Given the description of an element on the screen output the (x, y) to click on. 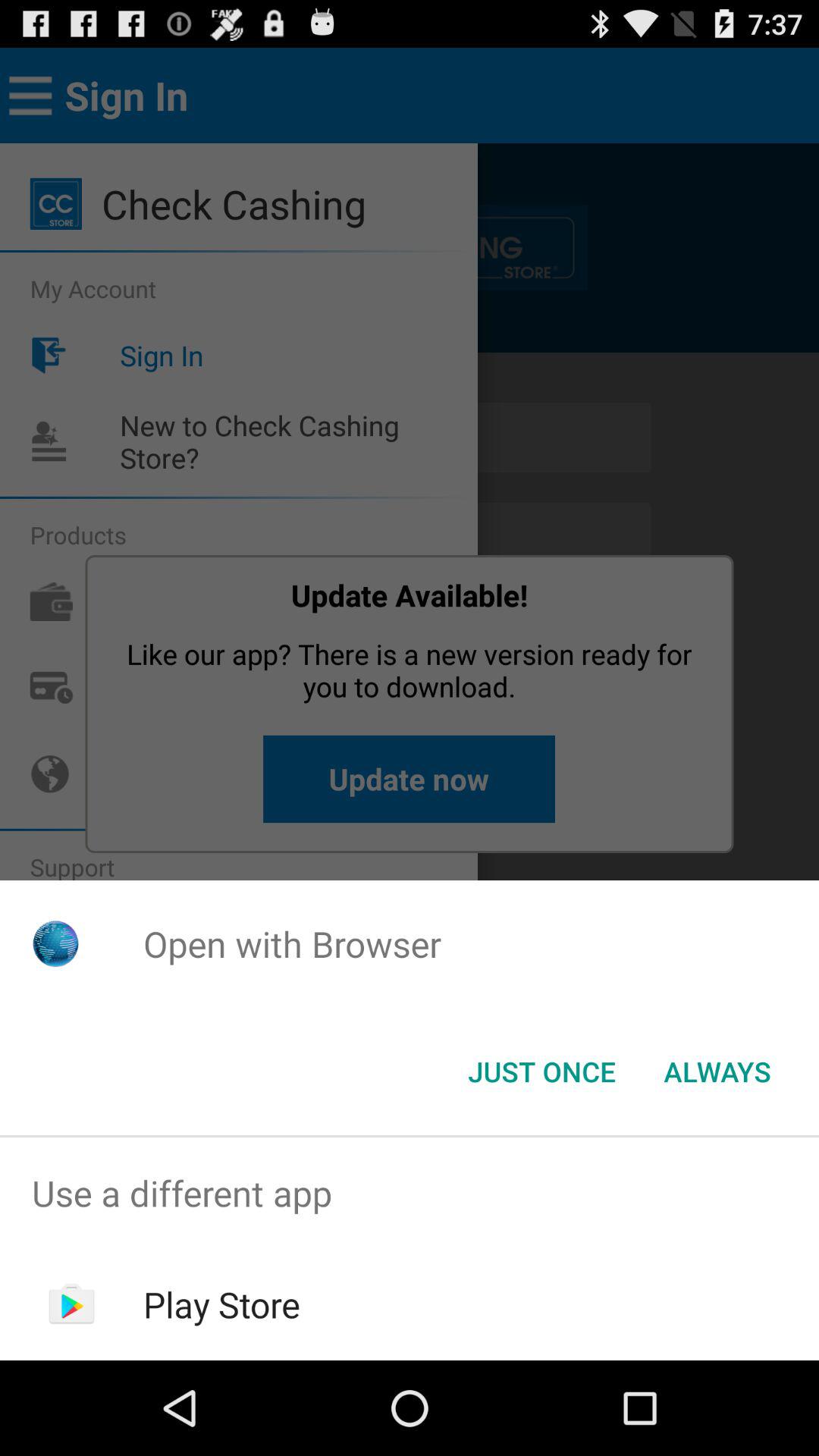
choose icon below the use a different item (221, 1304)
